Given the description of an element on the screen output the (x, y) to click on. 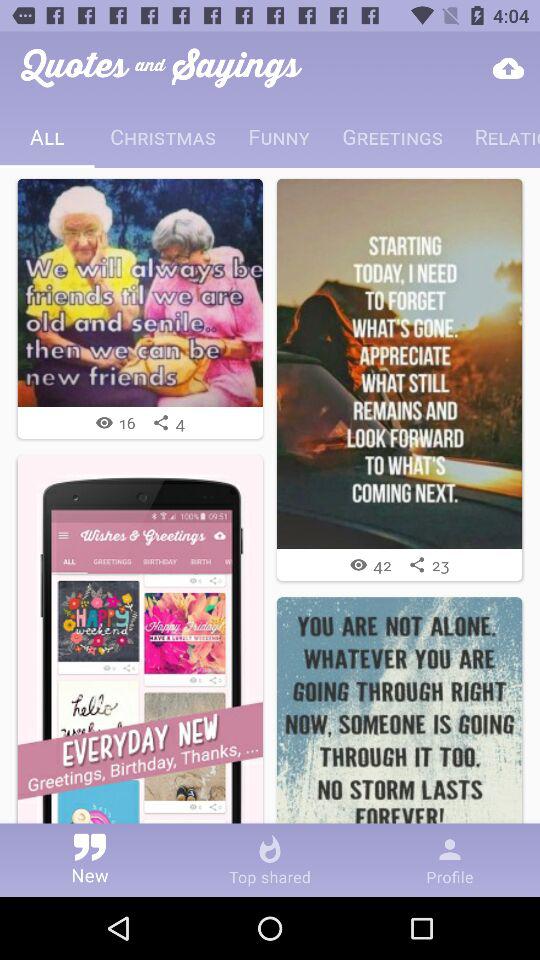
open image (399, 363)
